Given the description of an element on the screen output the (x, y) to click on. 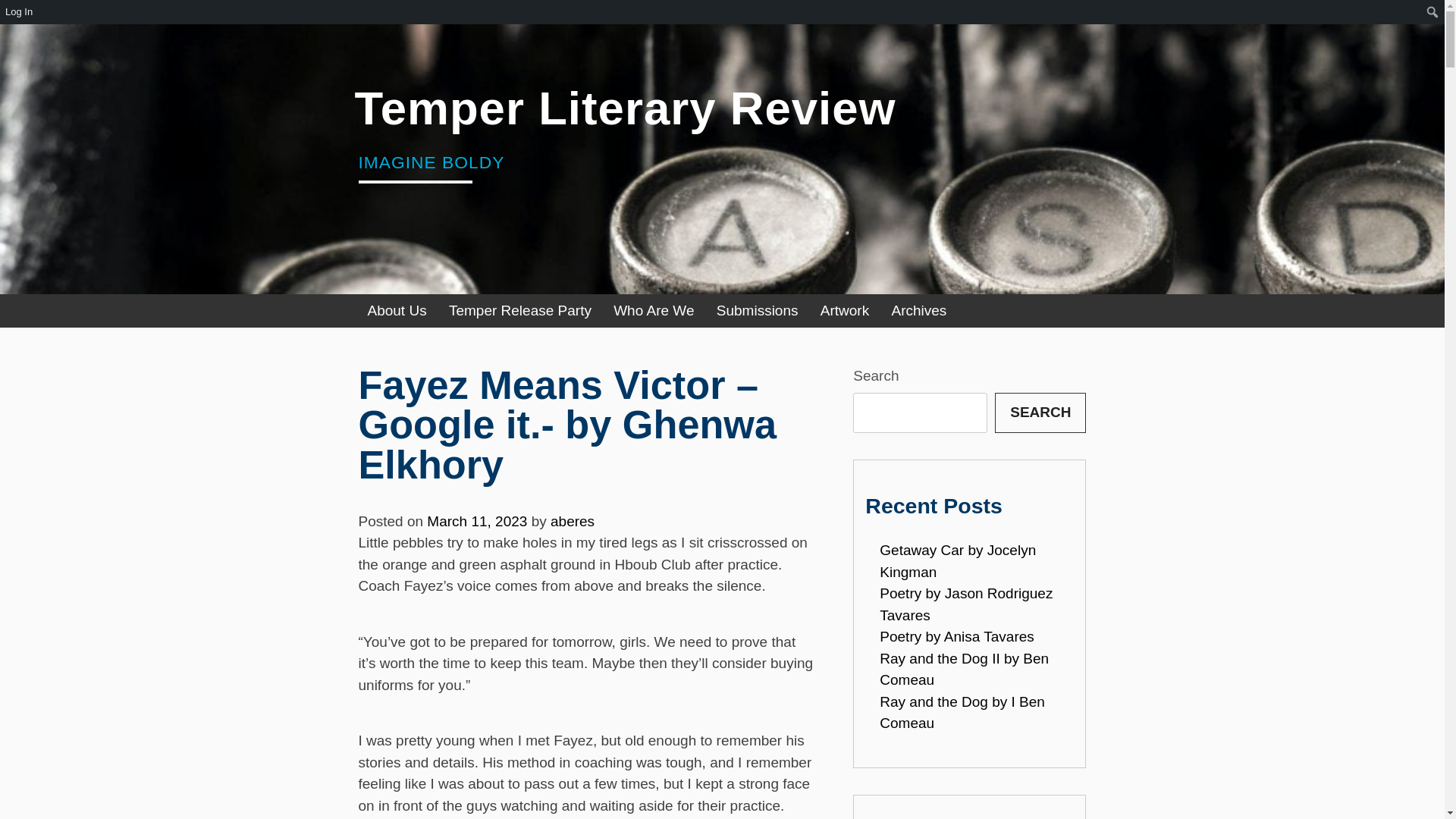
Archives (918, 311)
Ray and the Dog by I Ben Comeau (962, 712)
Poetry by Jason Rodriguez Tavares (965, 604)
Submissions (757, 311)
Poetry by Anisa Tavares (956, 636)
Getaway Car by Jocelyn Kingman (957, 560)
SEARCH (1040, 413)
aberes (572, 521)
Temper Literary Review (625, 107)
Log In (19, 12)
Temper Release Party (519, 311)
Artwork (843, 311)
March 11, 2023 (476, 521)
About Us (396, 311)
Temper Literary Review (625, 107)
